Given the description of an element on the screen output the (x, y) to click on. 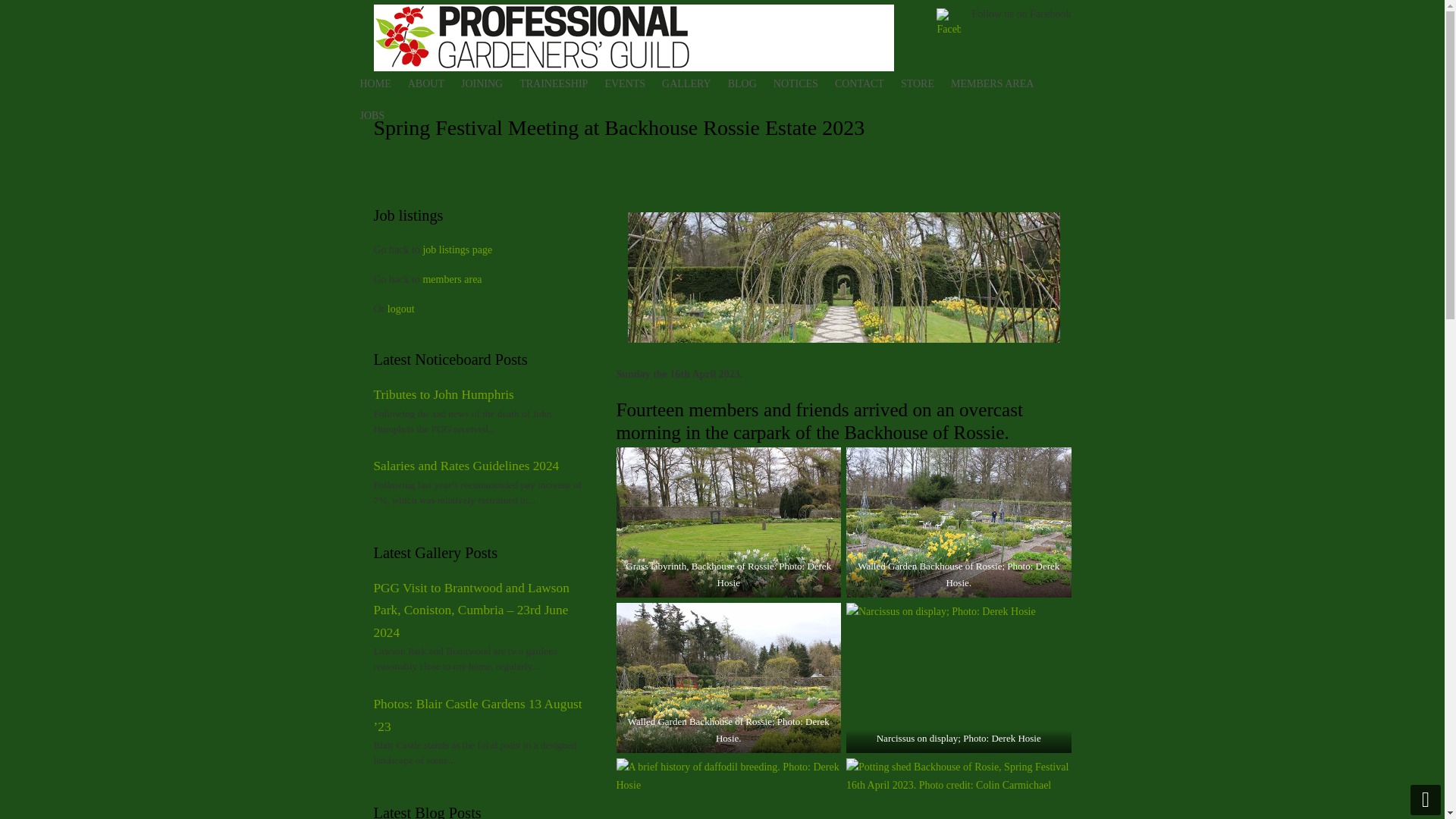
JOINING (487, 83)
JOBS (378, 115)
GALLERY (692, 83)
PGG Blog (747, 83)
TRAINEESHIP (558, 83)
BLOG (747, 83)
EVENTS (630, 83)
Gallery of Professional Gardeners Guildevents and visits (692, 83)
Professional Gardeners Guild home page (381, 83)
HOME (381, 83)
